Given the description of an element on the screen output the (x, y) to click on. 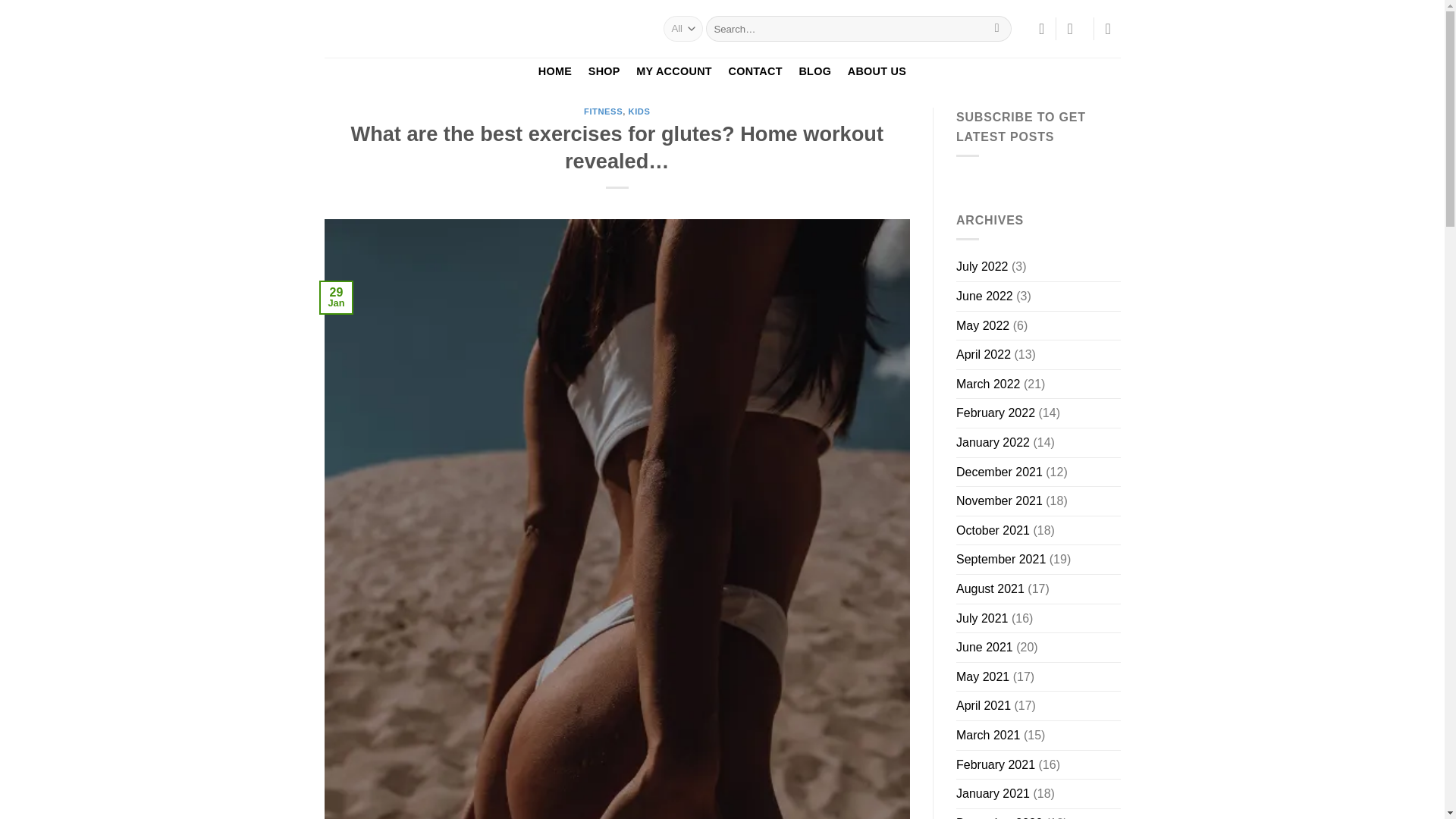
MY ACCOUNT (673, 71)
SHOP (603, 71)
ABOUT US (877, 71)
BLOG (815, 71)
HOME (554, 71)
Search (996, 28)
CONTACT (755, 71)
KIDS (639, 111)
FITNESS (603, 111)
